Given the description of an element on the screen output the (x, y) to click on. 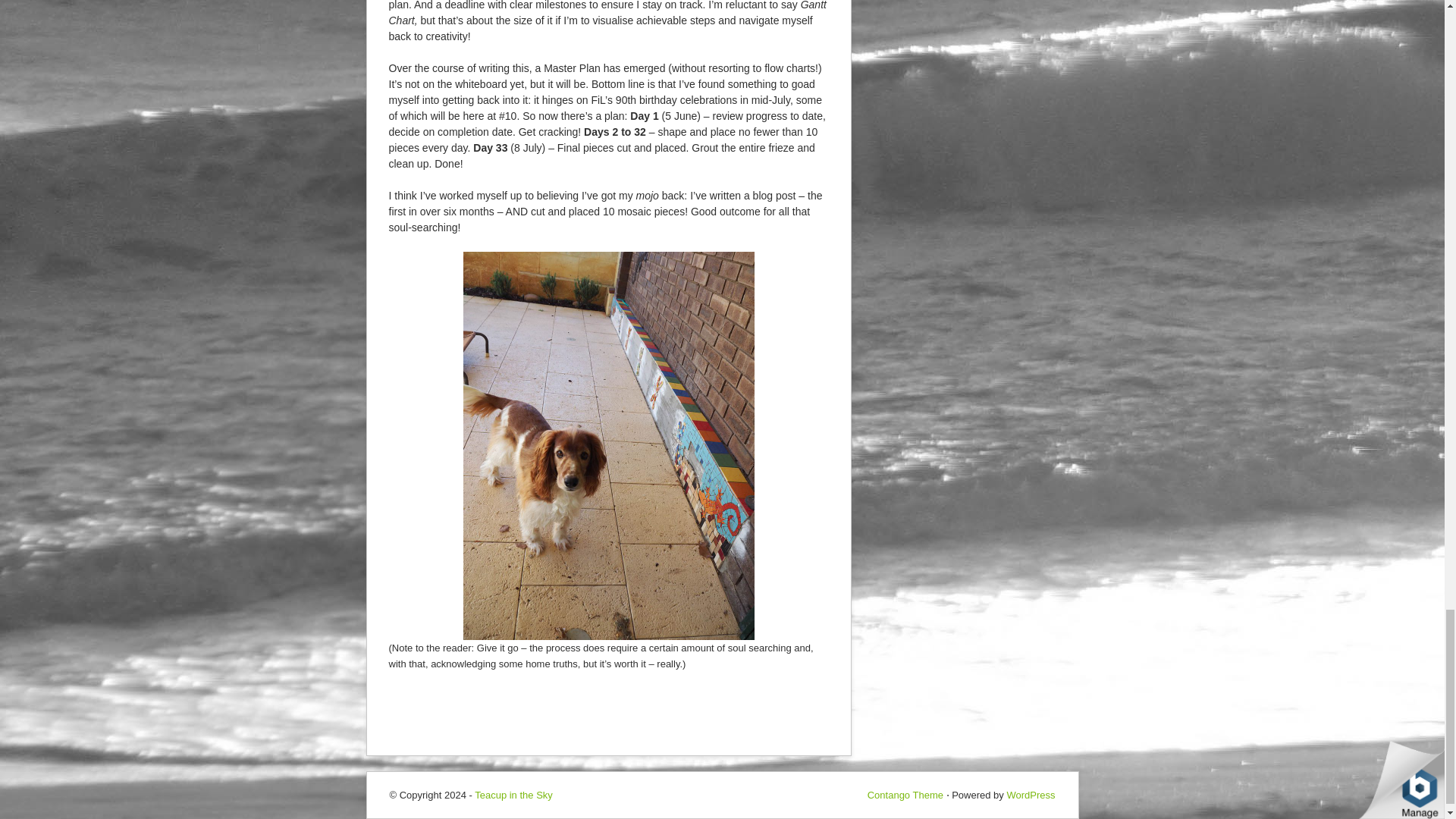
WordPress (1030, 794)
Contango Theme (905, 794)
WordPress (1030, 794)
Teacup in the Sky (513, 794)
Contango Theme (905, 794)
